Given the description of an element on the screen output the (x, y) to click on. 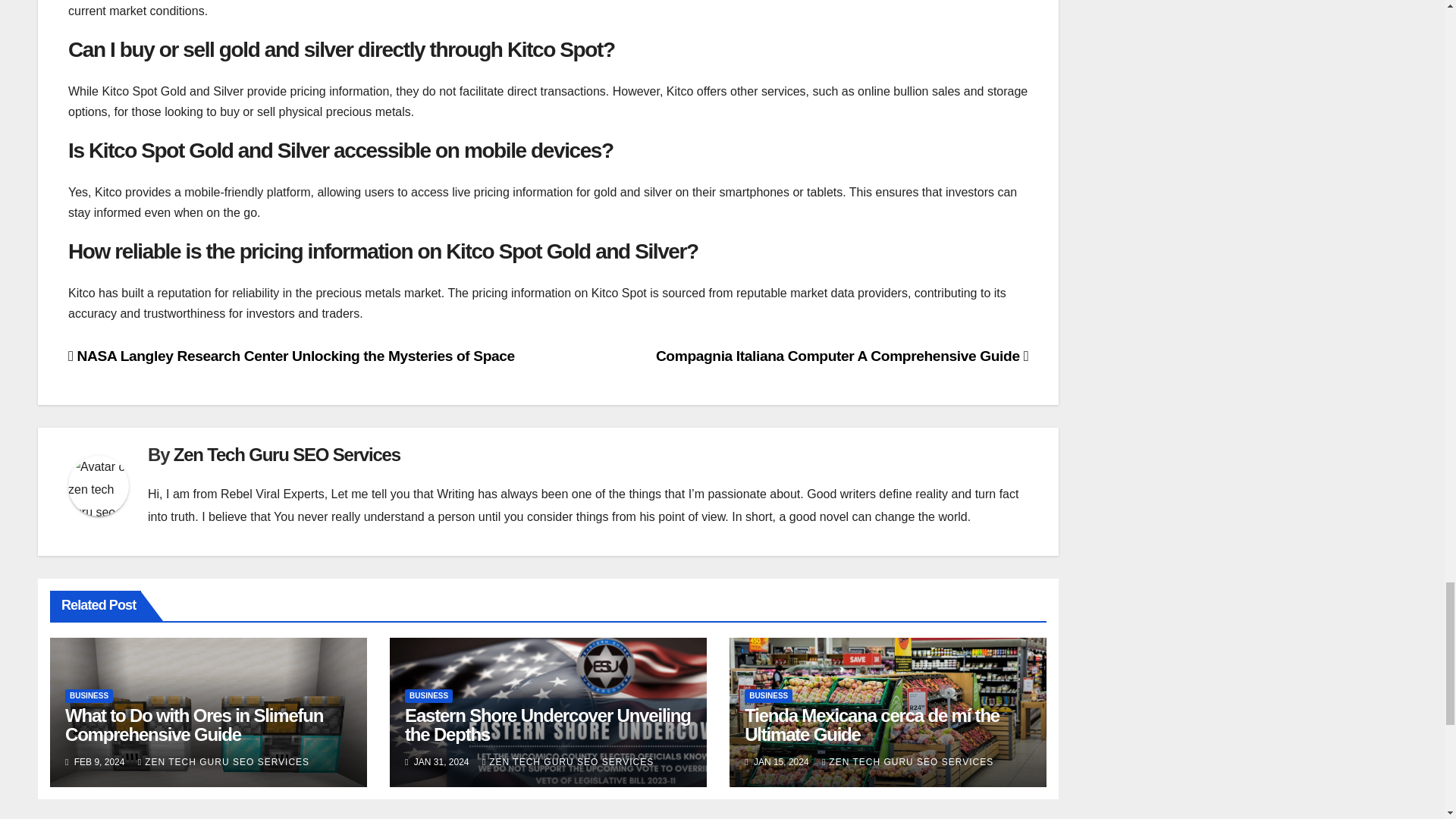
ZEN TECH GURU SEO SERVICES (223, 761)
Zen Tech Guru SEO Services (286, 454)
ZEN TECH GURU SEO SERVICES (567, 761)
Eastern Shore Undercover Unveiling the Depths (547, 724)
Compagnia Italiana Computer A Comprehensive Guide (841, 355)
BUSINESS (89, 695)
BUSINESS (428, 695)
BUSINESS (768, 695)
ZEN TECH GURU SEO SERVICES (907, 761)
